Given the description of an element on the screen output the (x, y) to click on. 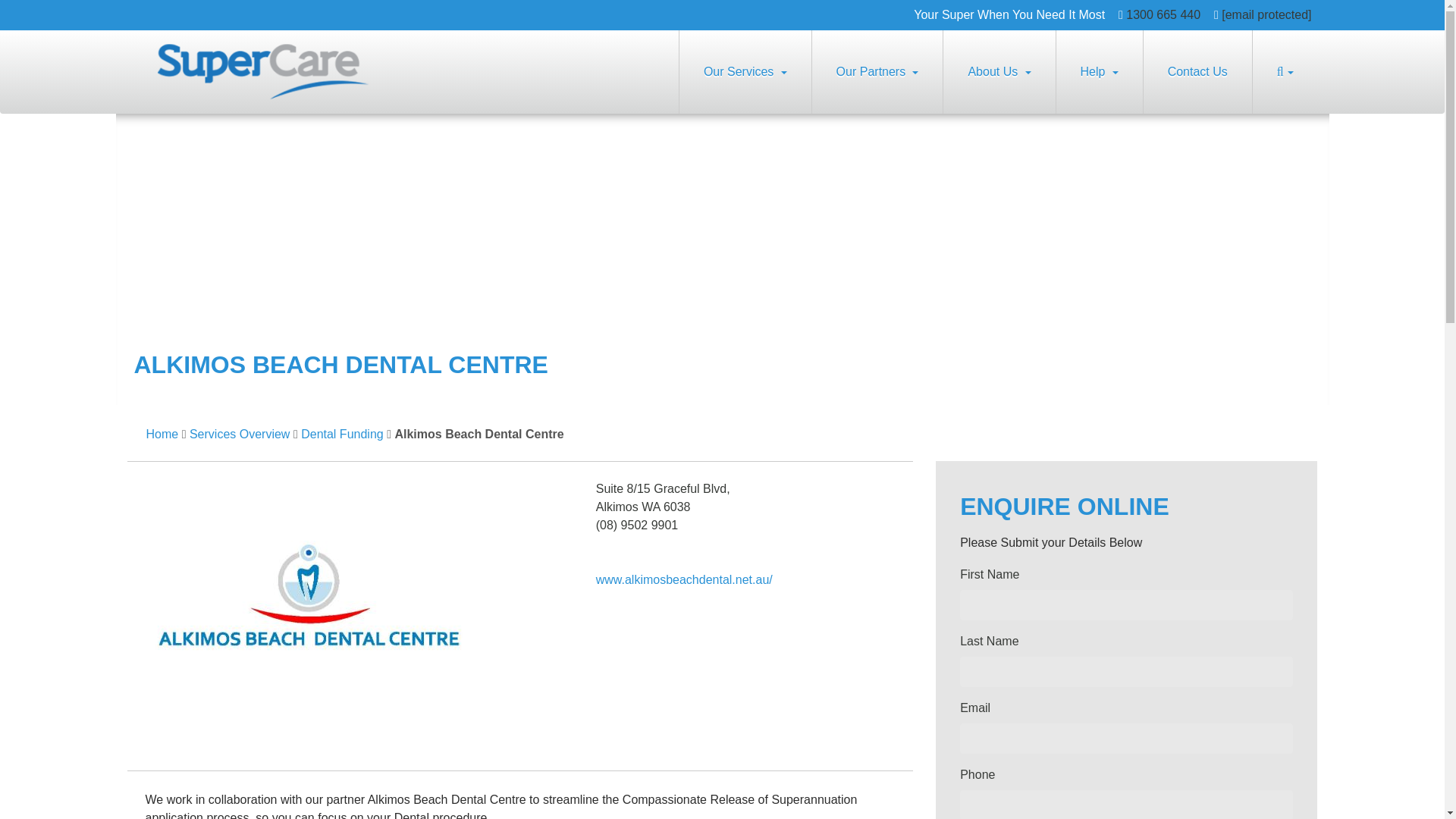
Our Partners (876, 71)
1300 665 440 (1162, 14)
Our Services (745, 71)
Dental Funding (342, 433)
Home (161, 433)
Our Partners (876, 71)
Services Overview (239, 433)
Our Services (745, 71)
